Given the description of an element on the screen output the (x, y) to click on. 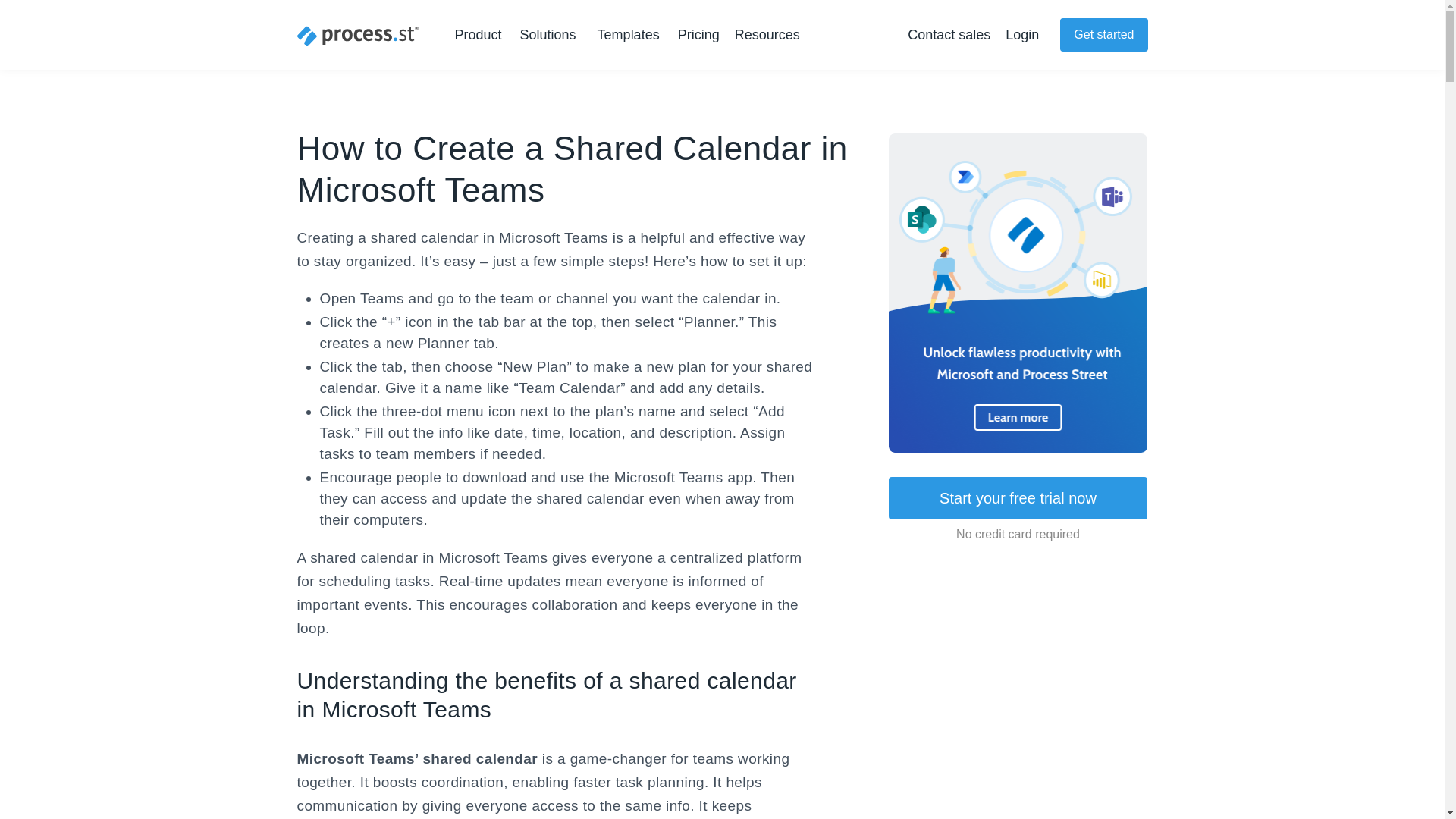
Solutions (550, 34)
Contact sales (948, 34)
Login (1022, 34)
Product (481, 34)
Pricing (698, 34)
Get started (1103, 34)
Process Street (358, 35)
Resources (770, 34)
Templates (627, 34)
